Given the description of an element on the screen output the (x, y) to click on. 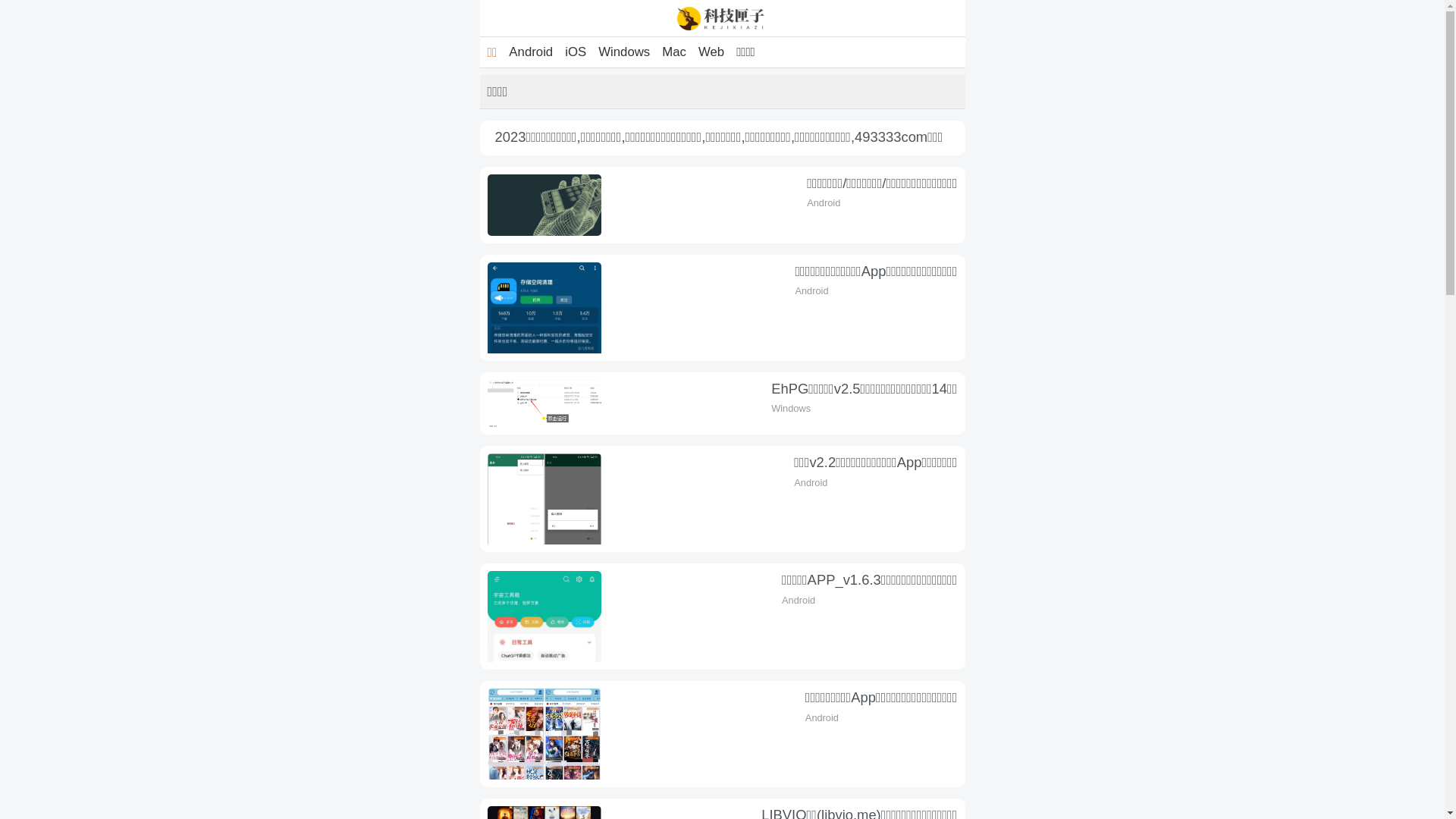
iOS Element type: text (575, 52)
Android Element type: text (530, 52)
Mac Element type: text (673, 52)
Web Element type: text (711, 52)
Windows Element type: text (623, 52)
